Given the description of an element on the screen output the (x, y) to click on. 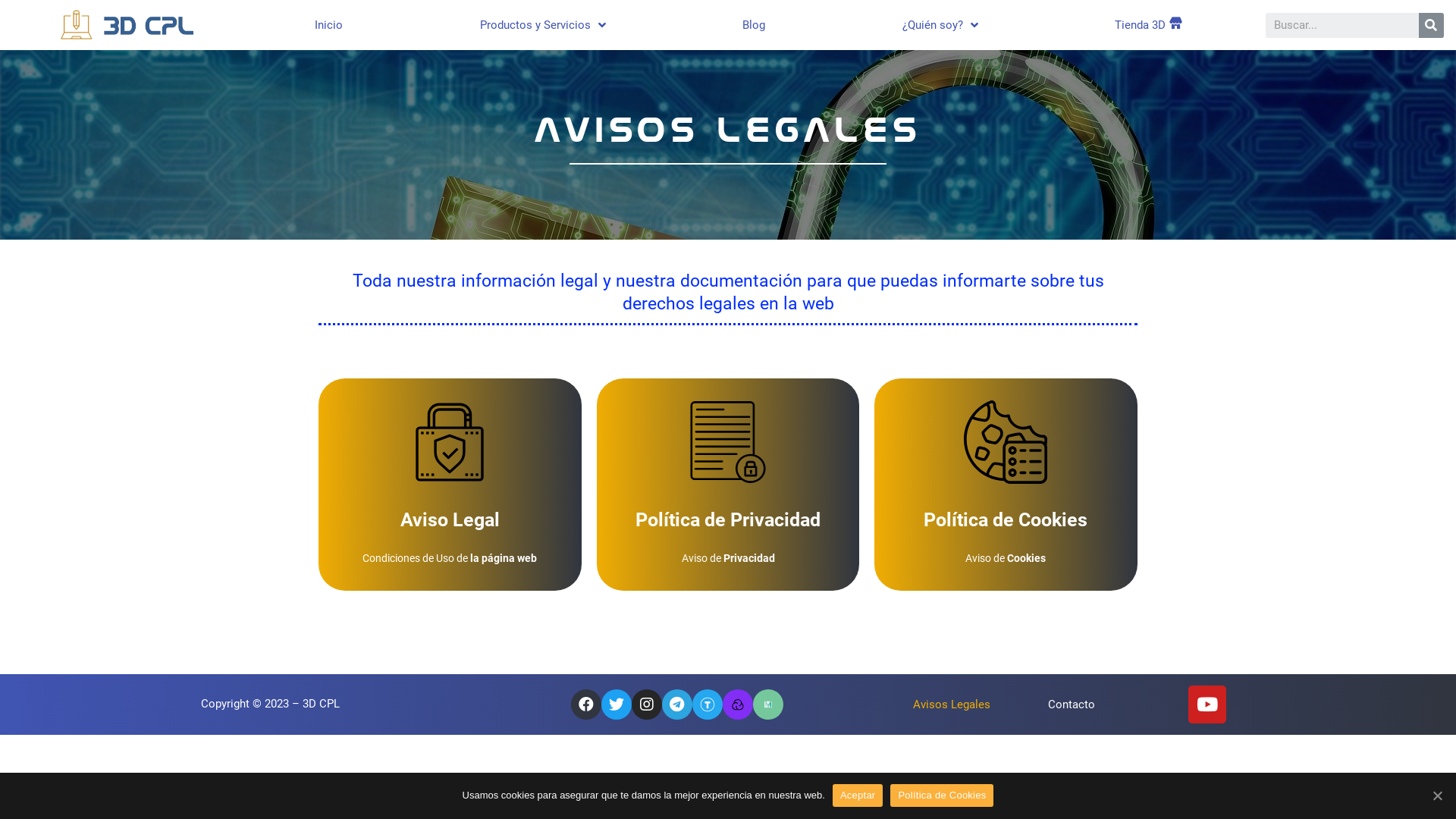
Productos y Servicios Element type: text (542, 24)
Search Element type: hover (1341, 24)
Blog Element type: text (754, 24)
Tienda 3D Element type: text (1148, 24)
Ver nuestro Aviso Legal Element type: text (449, 484)
Avisos Legales Element type: text (951, 704)
Contacto Element type: text (1071, 704)
Inicio Element type: text (328, 24)
Search Element type: hover (1430, 24)
Aceptar Element type: text (857, 795)
